Given the description of an element on the screen output the (x, y) to click on. 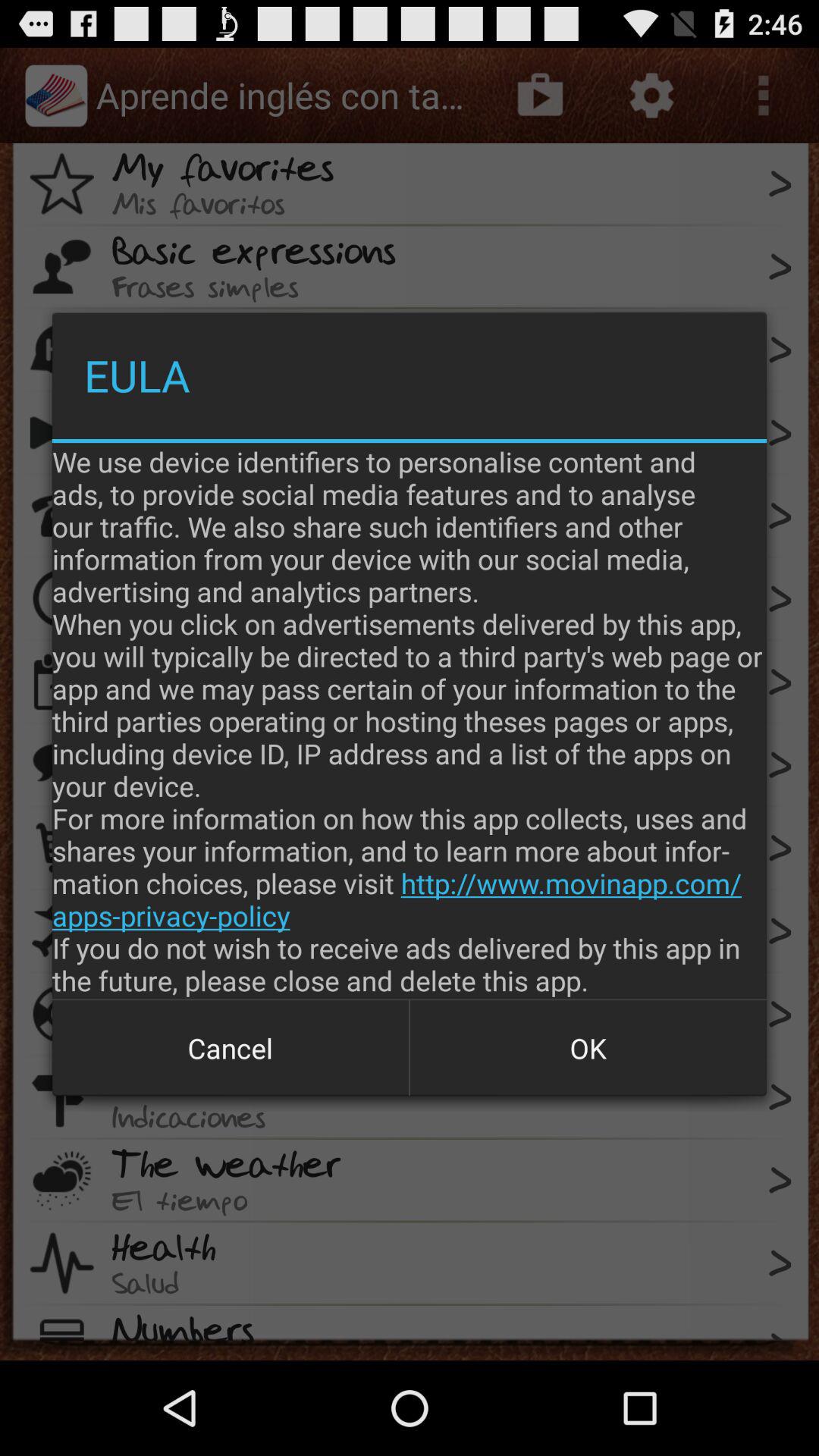
turn on the cancel at the bottom left corner (230, 1047)
